Given the description of an element on the screen output the (x, y) to click on. 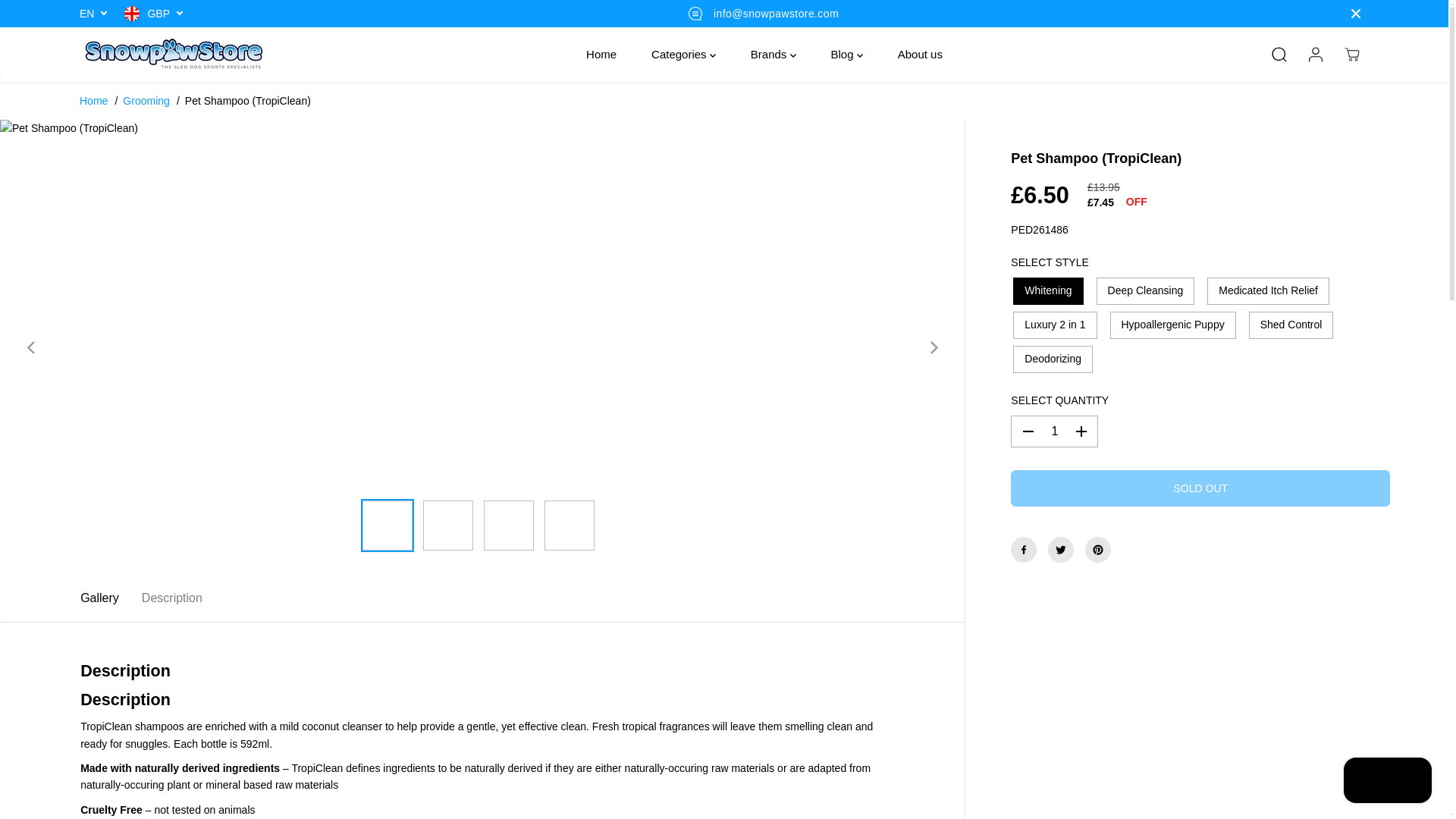
Deodorizing (1050, 359)
1 (1053, 431)
Deep Cleansing (1142, 290)
Home (93, 100)
Shed Control (1288, 325)
Medicated Itch Relief (1265, 290)
Pinterest (1097, 549)
Shed Control (1288, 325)
Deodorizing (1050, 359)
Facebook (1023, 549)
